Given the description of an element on the screen output the (x, y) to click on. 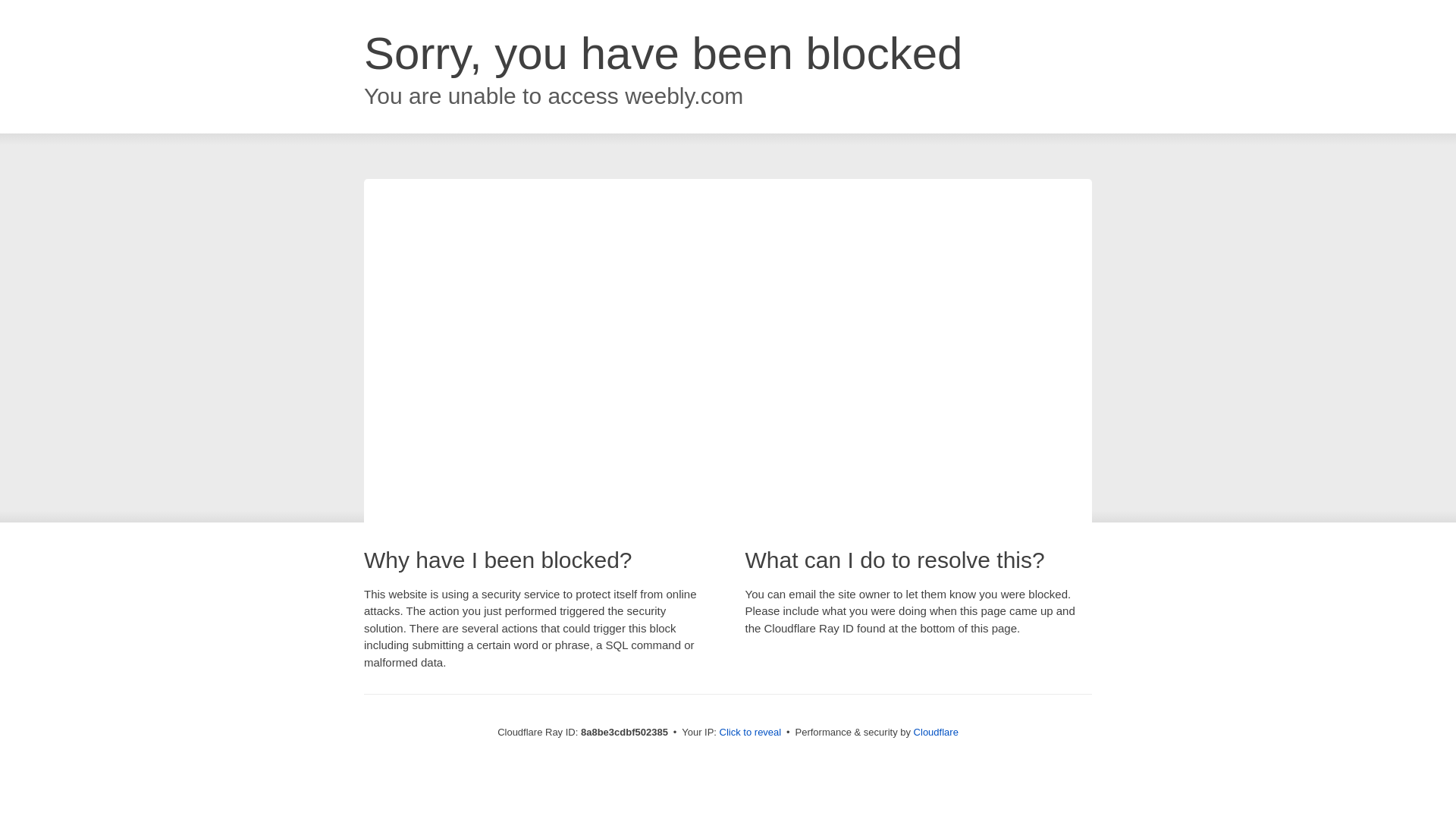
Cloudflare (936, 731)
Click to reveal (750, 732)
